Given the description of an element on the screen output the (x, y) to click on. 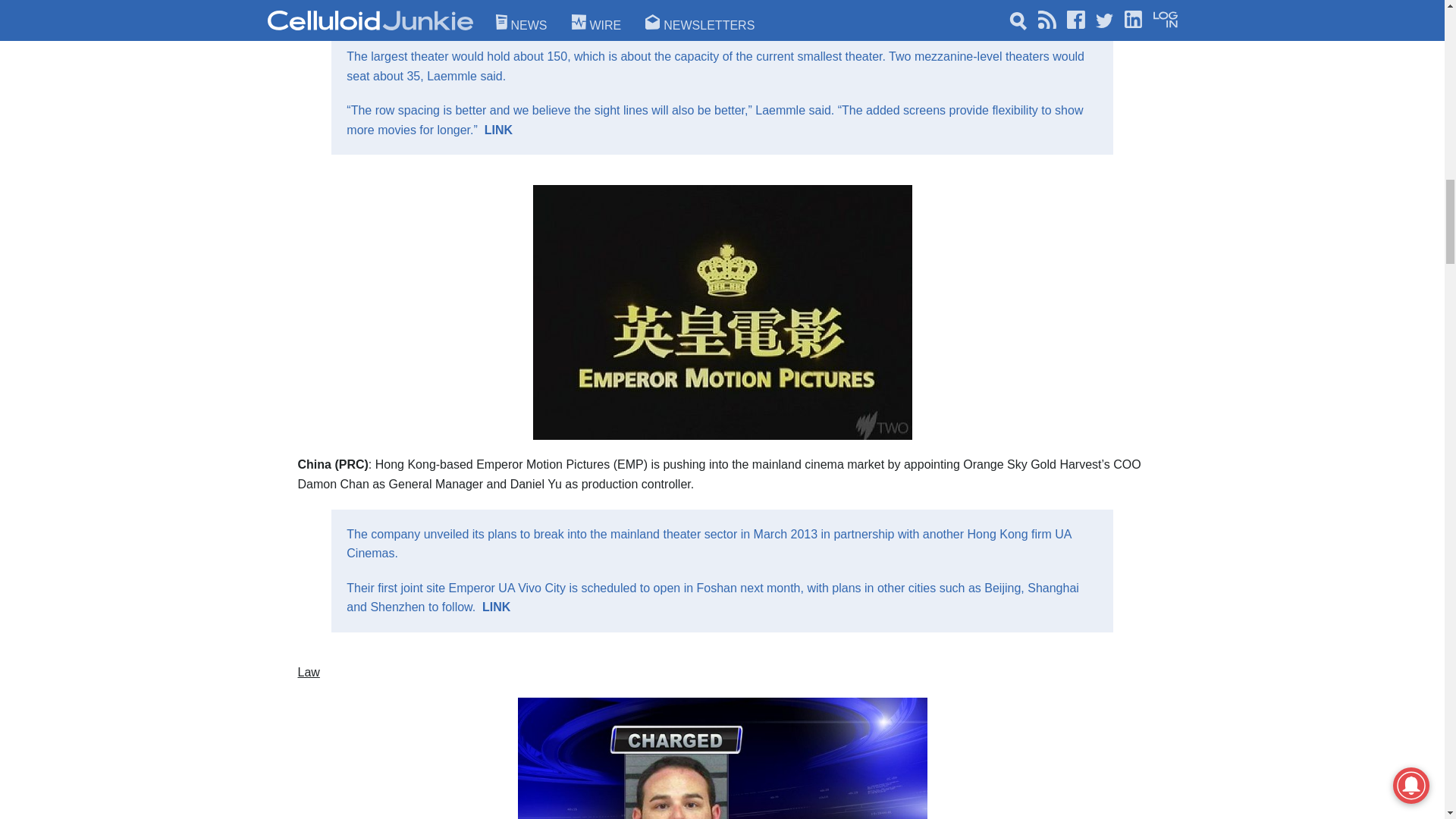
Santa Monica Laemmle expands and contracts (498, 129)
